Given the description of an element on the screen output the (x, y) to click on. 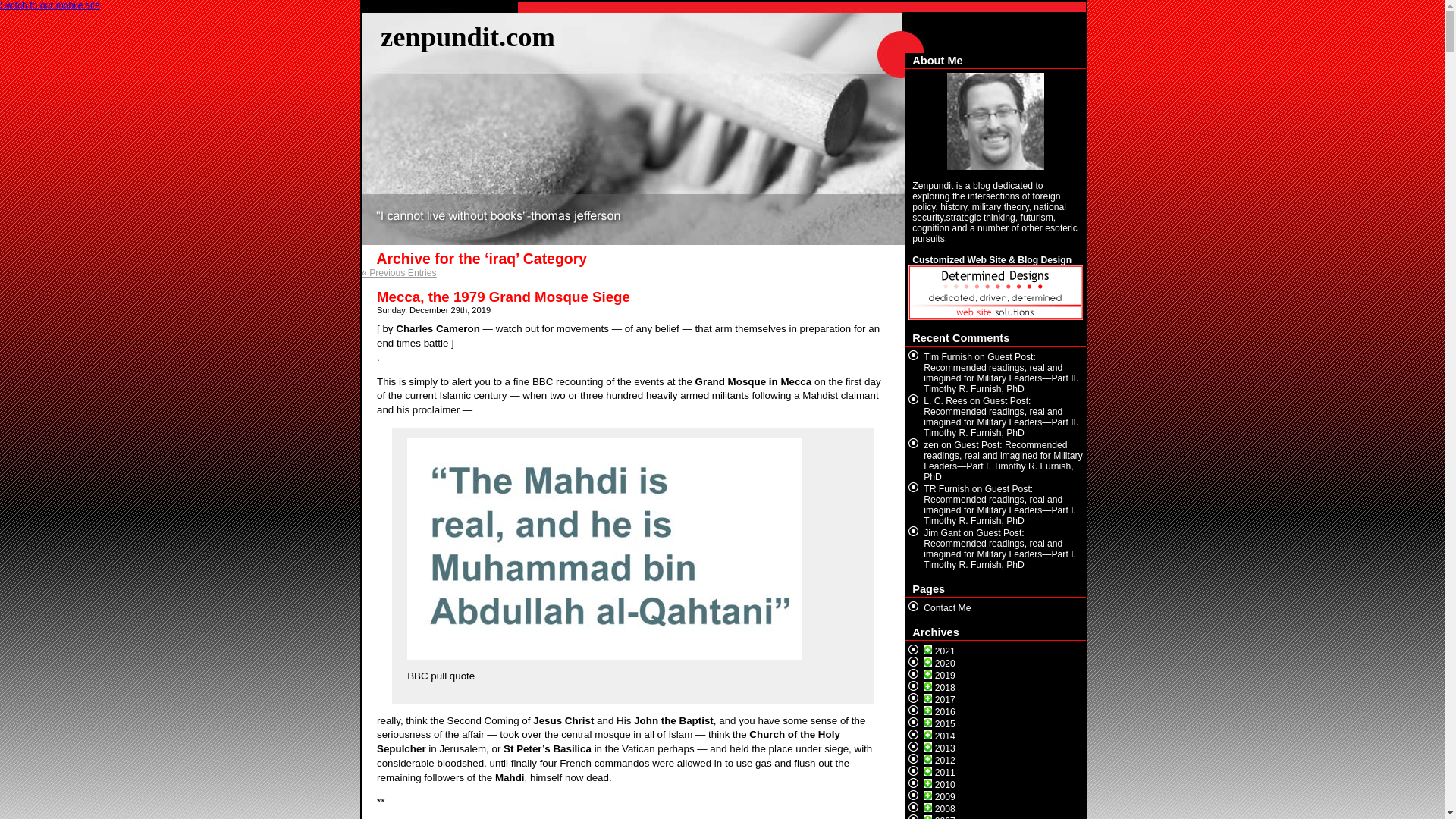
Mecca, the 1979 Grand Mosque Siege (503, 296)
About Me (995, 126)
zenpundit.com (467, 36)
Permanent Link to Mecca, the 1979 Grand Mosque Siege (503, 296)
